Given the description of an element on the screen output the (x, y) to click on. 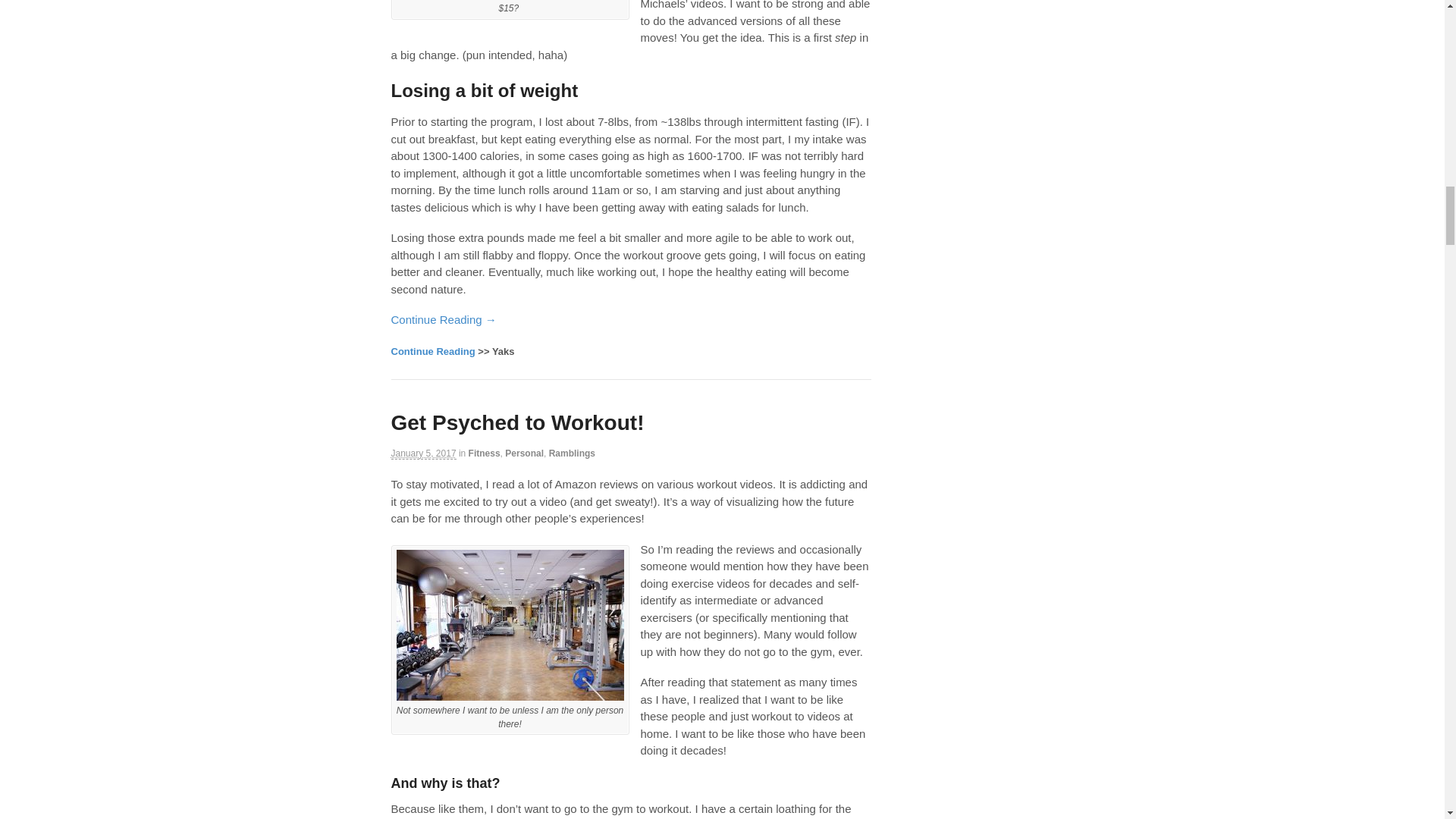
Continue Reading (433, 351)
Ramblings (571, 452)
Get Psyched to Workout! (518, 422)
Fitness (484, 452)
Personal (524, 452)
